Given the description of an element on the screen output the (x, y) to click on. 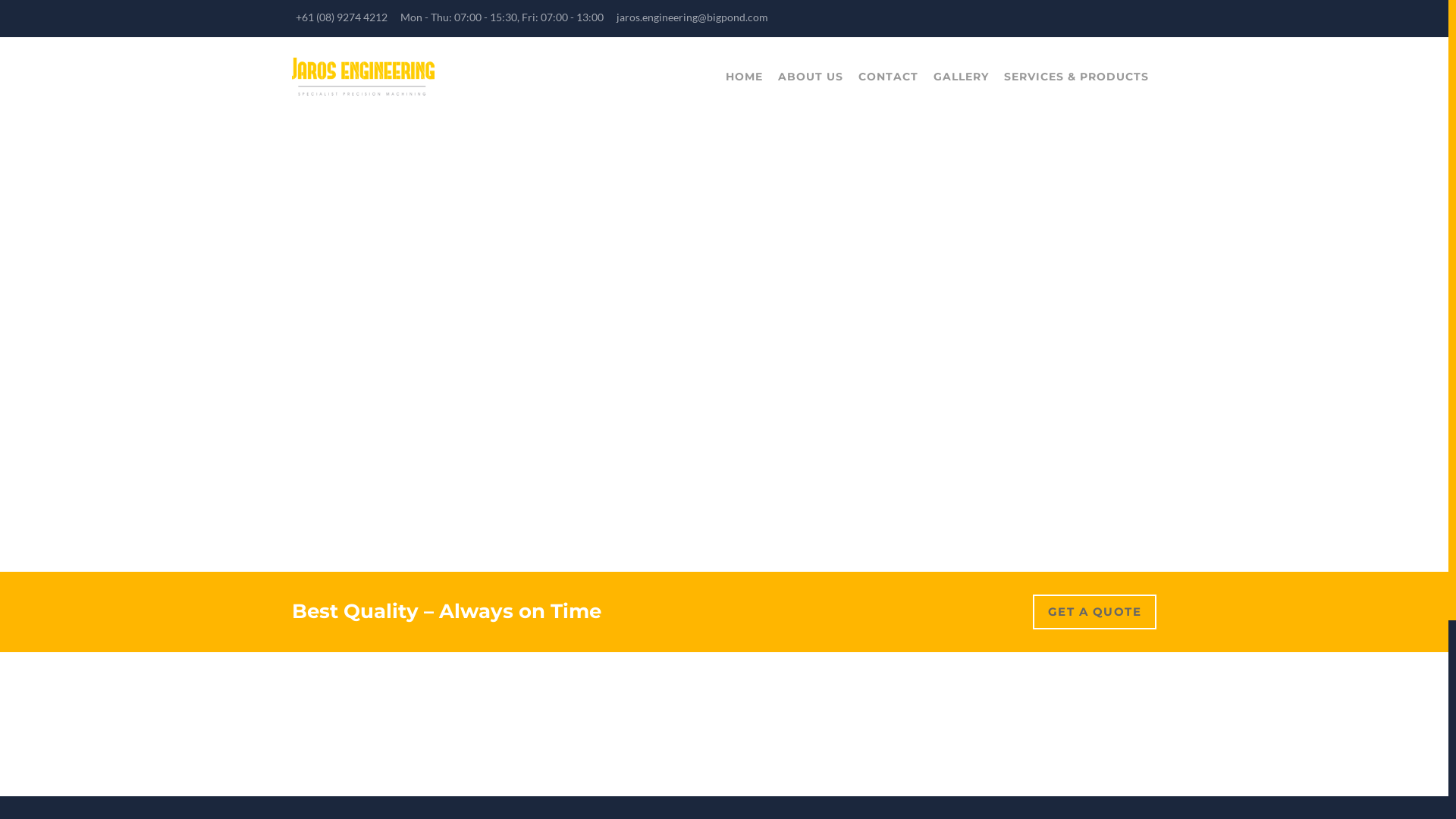
ABOUT US Element type: text (810, 76)
GALLERY Element type: text (960, 76)
HOME Element type: text (743, 76)
CONTACT Element type: text (888, 76)
jaros.engineering@bigpond.com Element type: text (692, 16)
GET A QUOTE Element type: text (1094, 611)
SERVICES & PRODUCTS Element type: text (1076, 76)
